Given the description of an element on the screen output the (x, y) to click on. 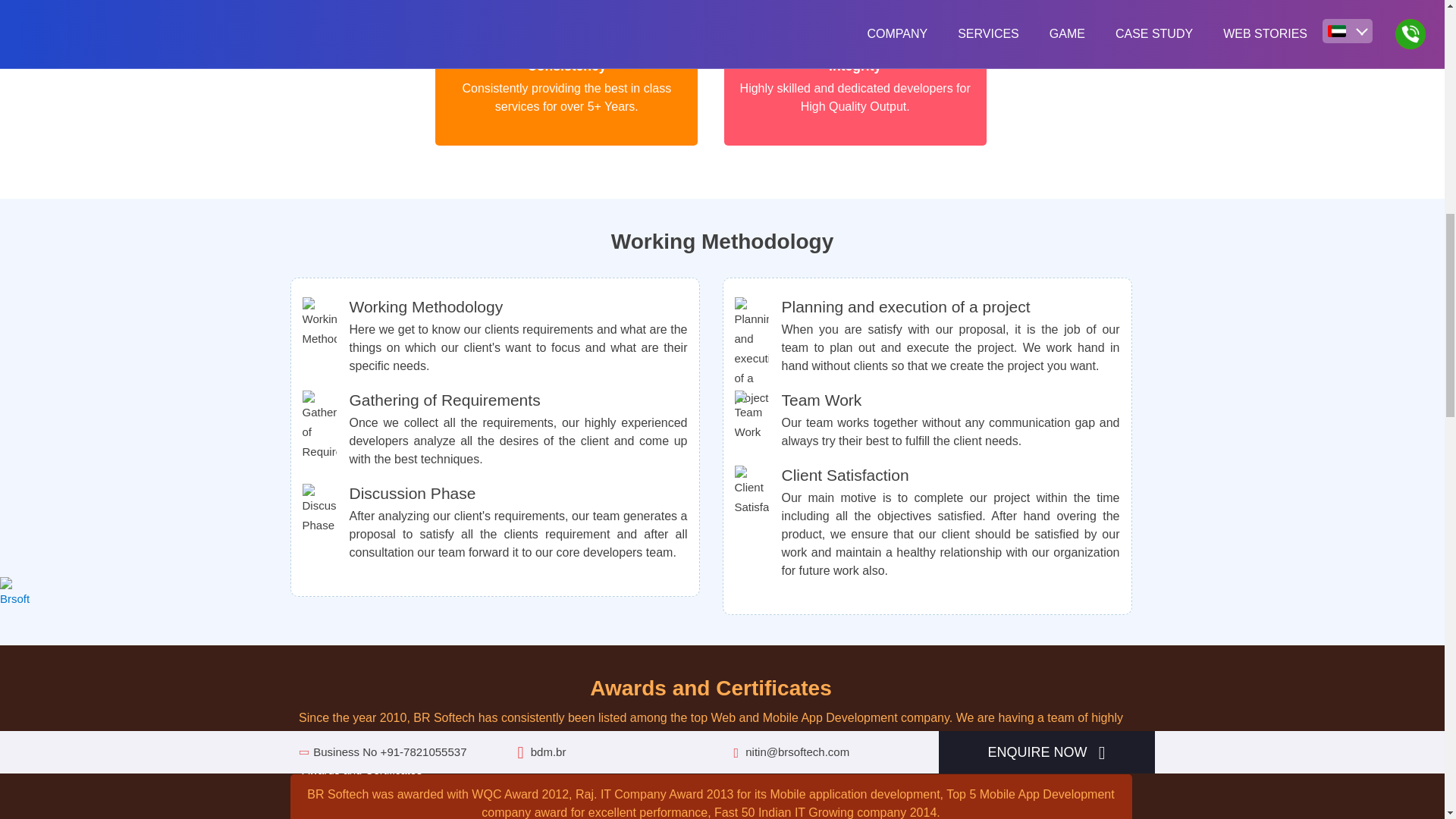
Awards and Certificates (355, 770)
